Given the description of an element on the screen output the (x, y) to click on. 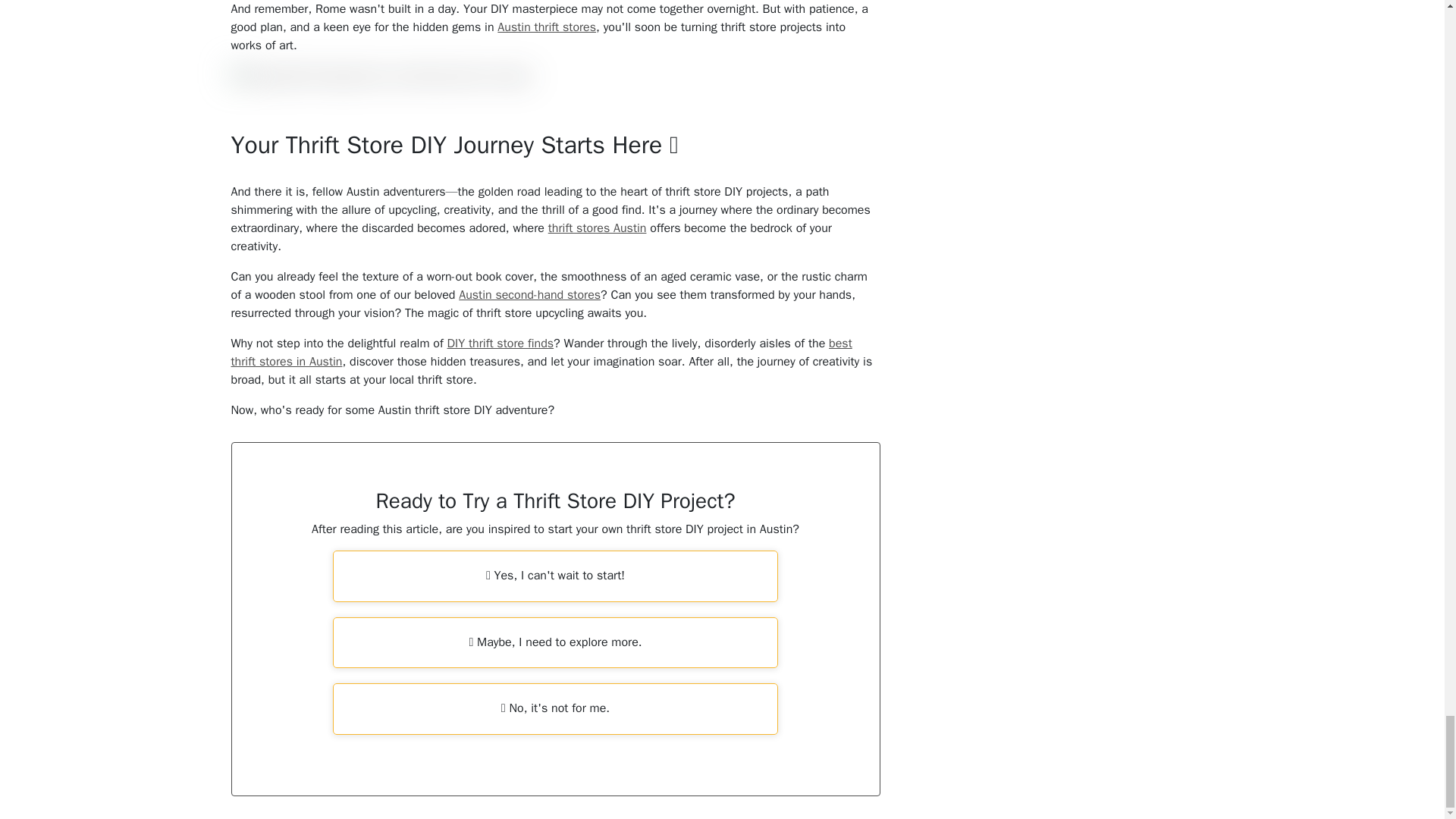
Austin second-hand stores (528, 294)
thrift stores Austin (597, 227)
Austin thrift stores (546, 27)
DIY thrift store finds (500, 343)
best thrift stores in Austin (540, 352)
